Given the description of an element on the screen output the (x, y) to click on. 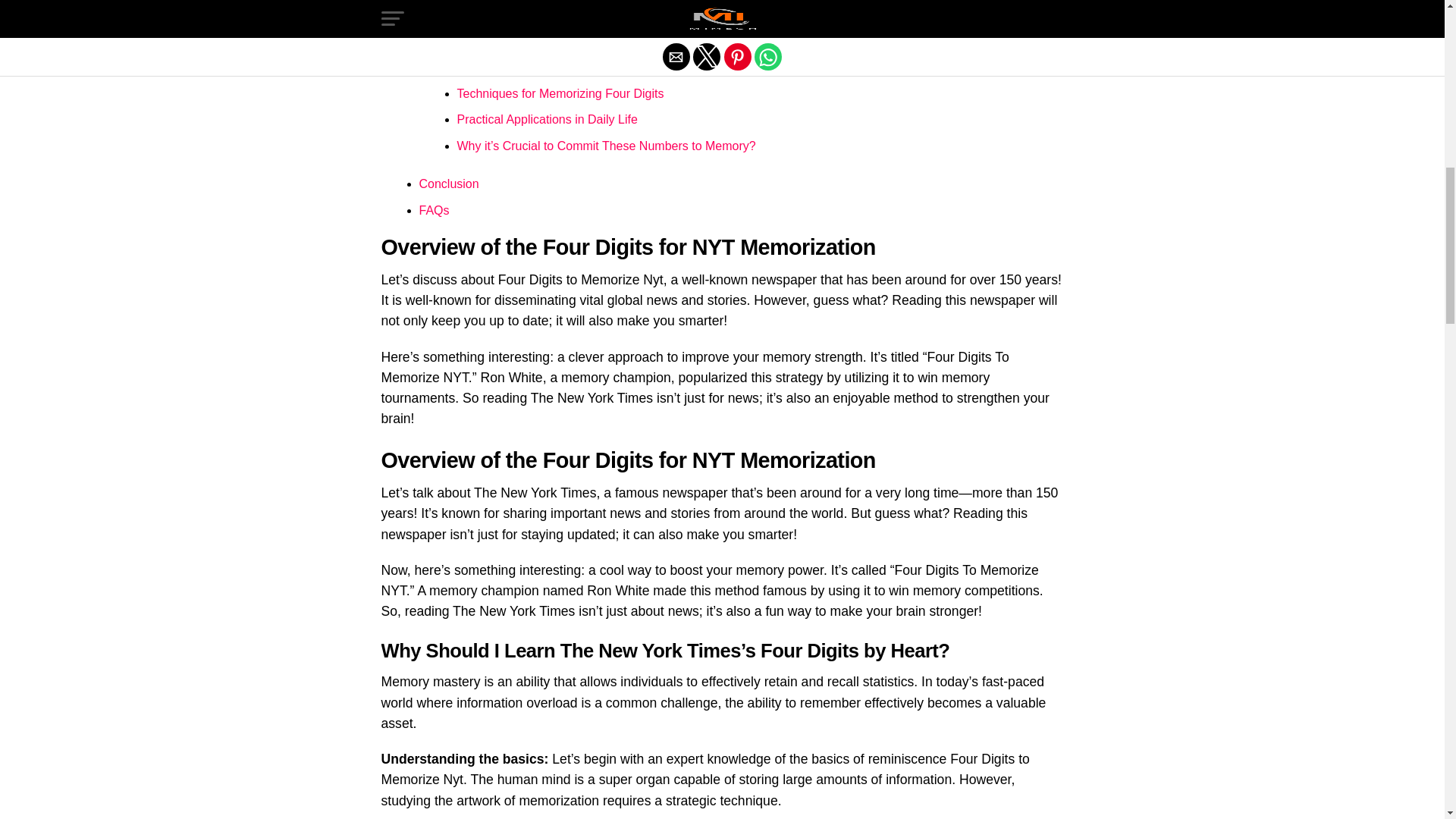
Overview of the Four Digits for NYT Memorization (552, 10)
Practical Applications in Daily Life (547, 119)
Conclusion (449, 183)
Techniques for Memorizing Four Digits (560, 92)
Conclusion (449, 183)
FAQs (433, 210)
FAQs (433, 210)
Overview of the Four Digits for NYT Memorization (552, 36)
Overview of the Four Digits for NYT Memorization (552, 10)
Practical Applications in Daily Life (547, 119)
